Given the description of an element on the screen output the (x, y) to click on. 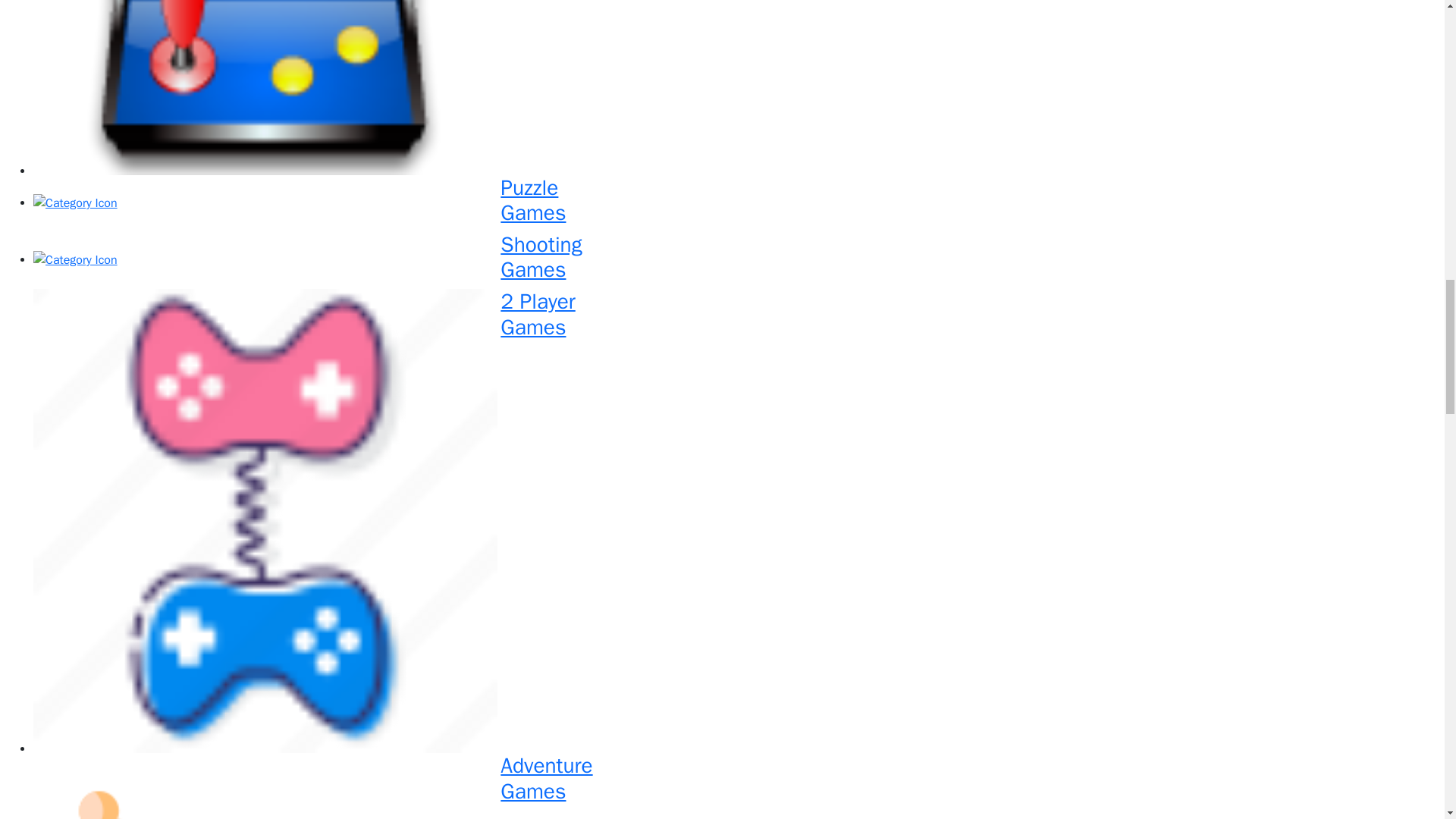
Shooting Games  (734, 260)
Adventure Games  (734, 785)
Puzzle Games  (734, 203)
2 Player Games  (734, 785)
